Given the description of an element on the screen output the (x, y) to click on. 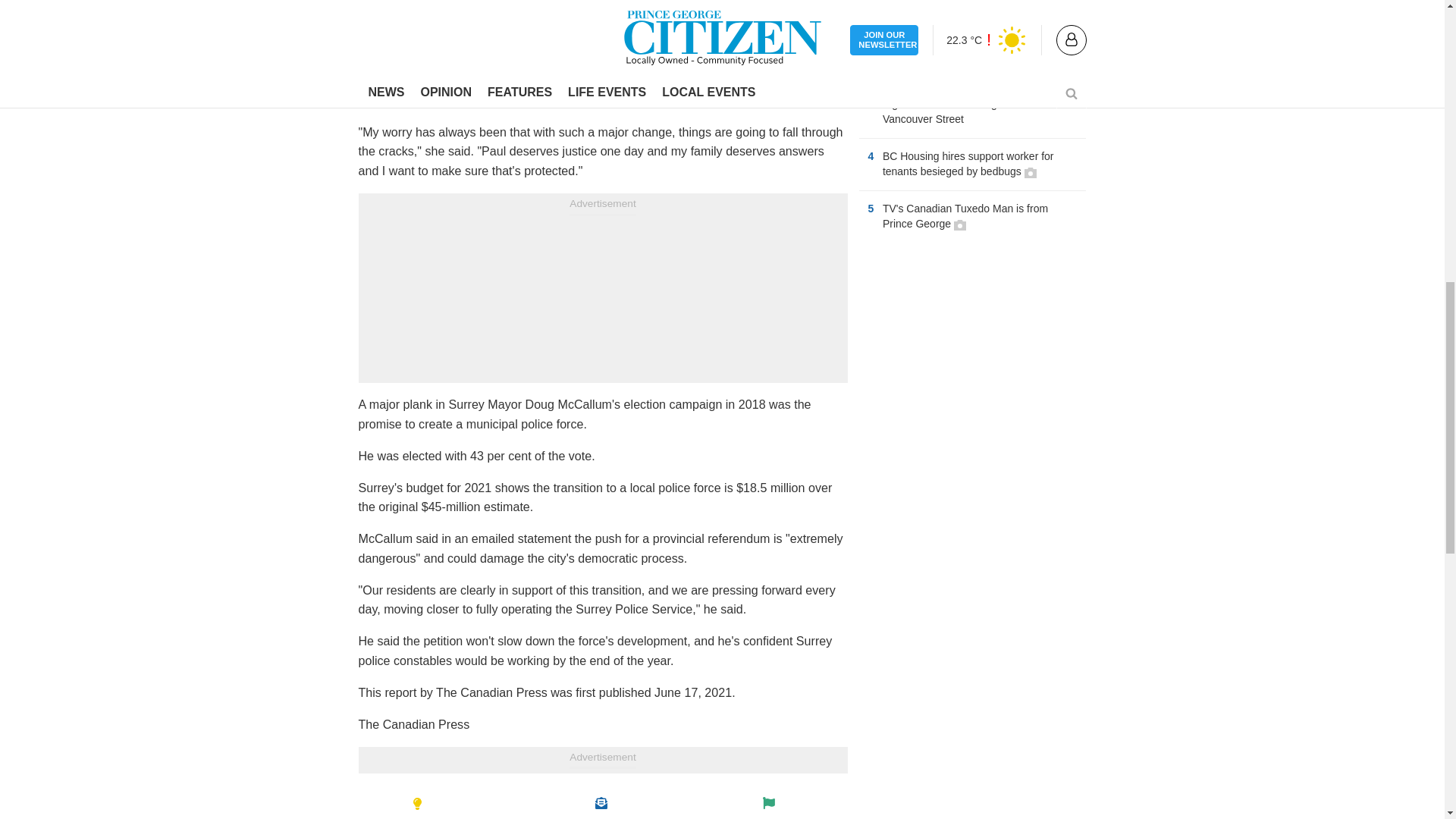
Has a gallery (1030, 173)
Has a gallery (959, 224)
Has a gallery (972, 3)
